Given the description of an element on the screen output the (x, y) to click on. 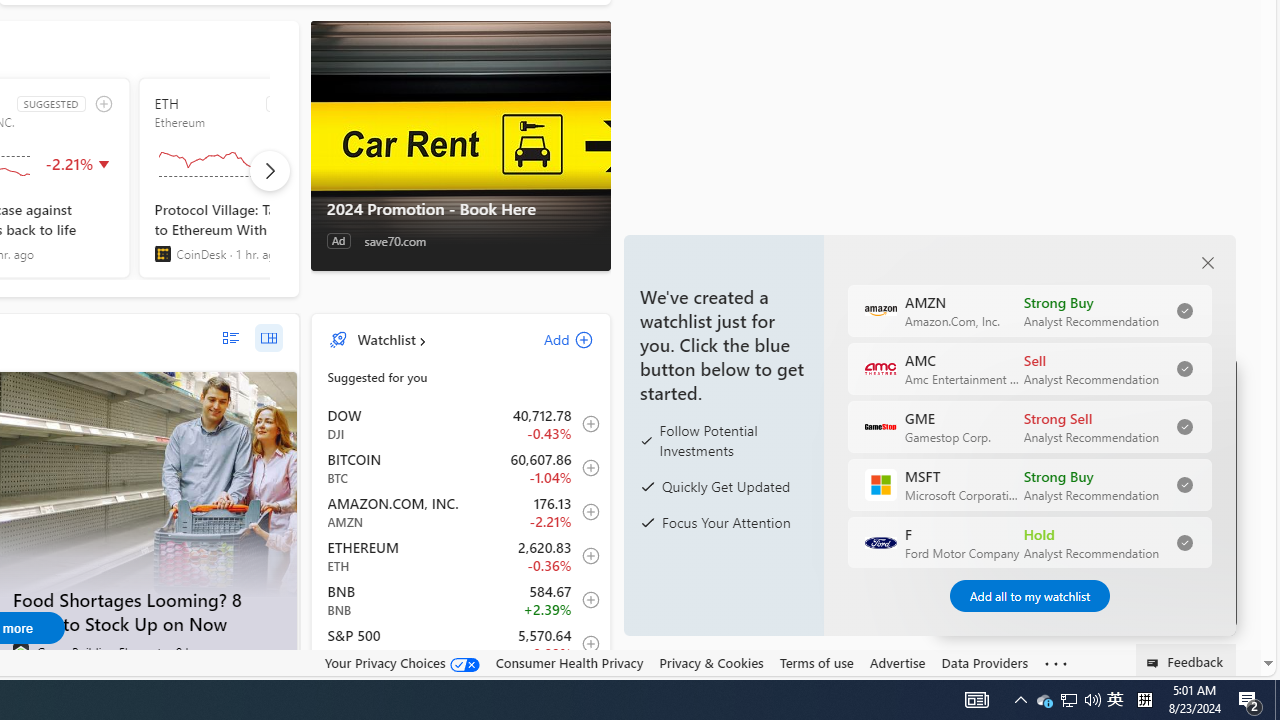
Terms of use (816, 662)
Add to Watchlist (585, 643)
Add (551, 339)
grid layout (267, 338)
DJI DOW decrease 40,712.78 -177.71 -0.43% item0 (461, 423)
Consumer Health Privacy (569, 663)
add to watchlist (103, 103)
Data Providers (983, 662)
Your Privacy Choices (401, 663)
CoinDesk (162, 254)
